Given the description of an element on the screen output the (x, y) to click on. 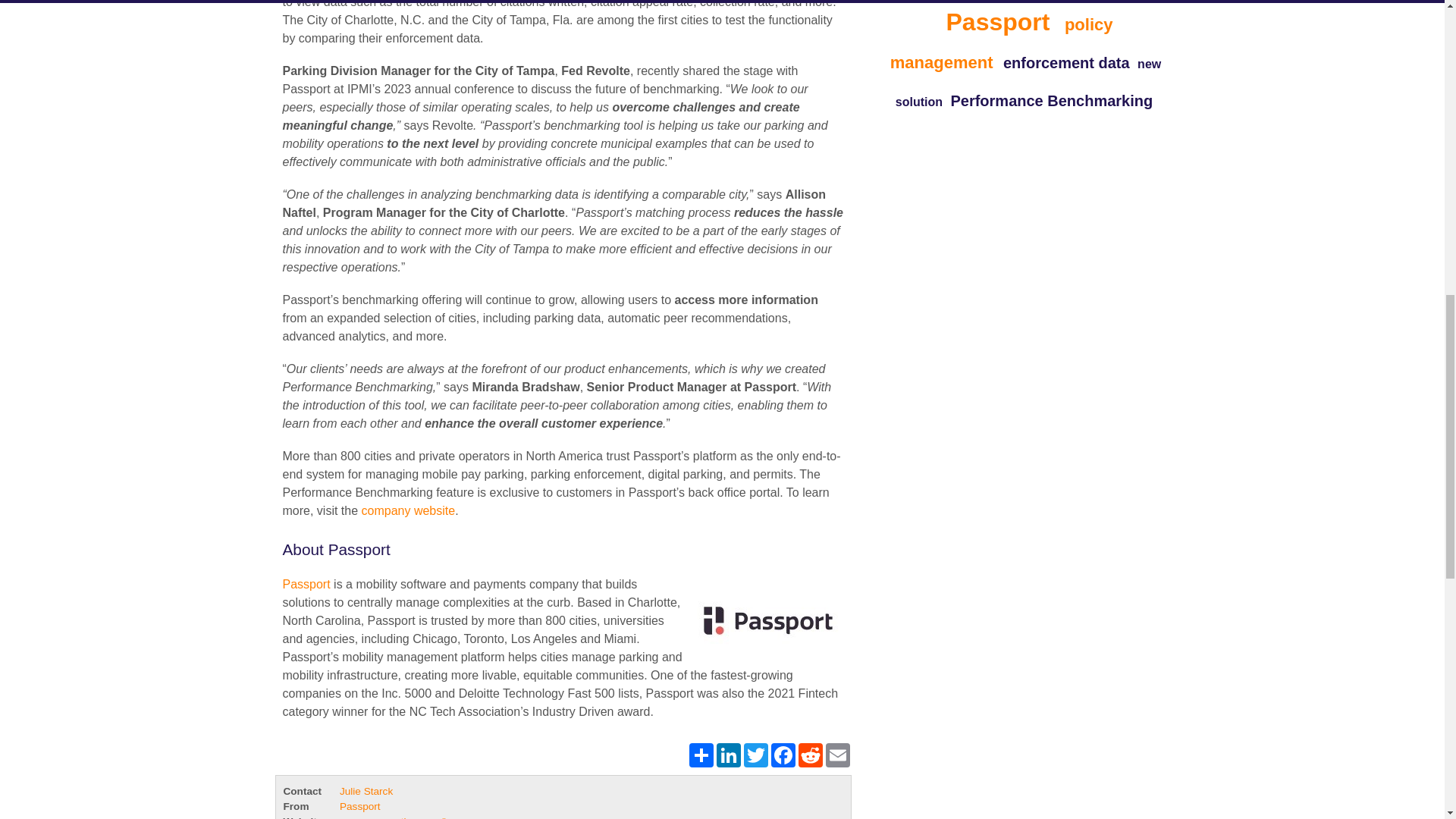
Twitter (754, 754)
LinkedIn (727, 754)
Facebook (782, 754)
Passport (306, 584)
Passport (763, 620)
company website (408, 510)
company website (408, 510)
View profile of Passport (359, 806)
View website of Passport (392, 817)
